Given the description of an element on the screen output the (x, y) to click on. 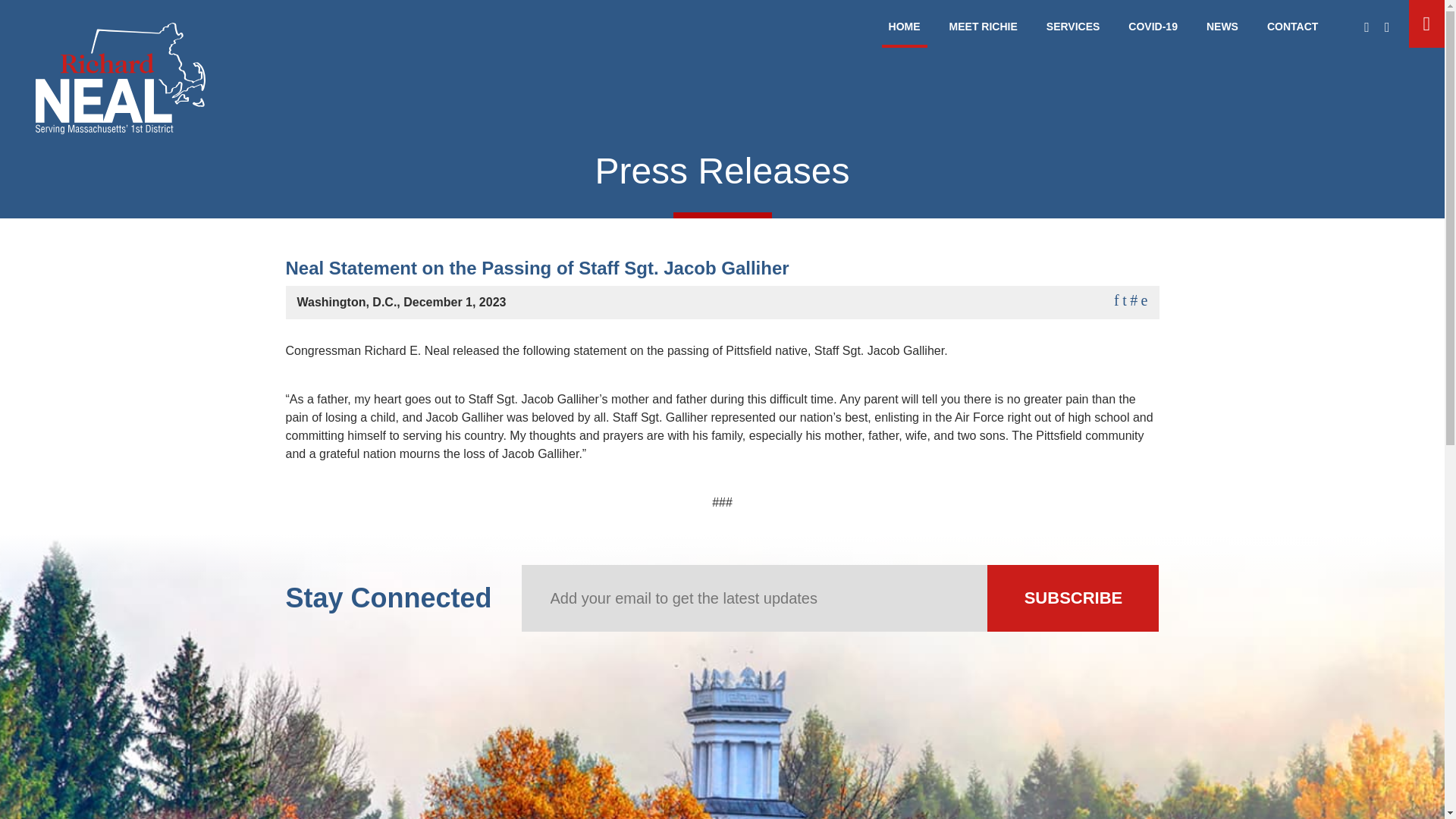
MEET RICHIE (983, 30)
COVID-19 (1152, 30)
HOME (904, 30)
SERVICES (1073, 30)
SUBSCRIBE (1072, 598)
NEWS (1222, 30)
CONTACT (1292, 30)
